Given the description of an element on the screen output the (x, y) to click on. 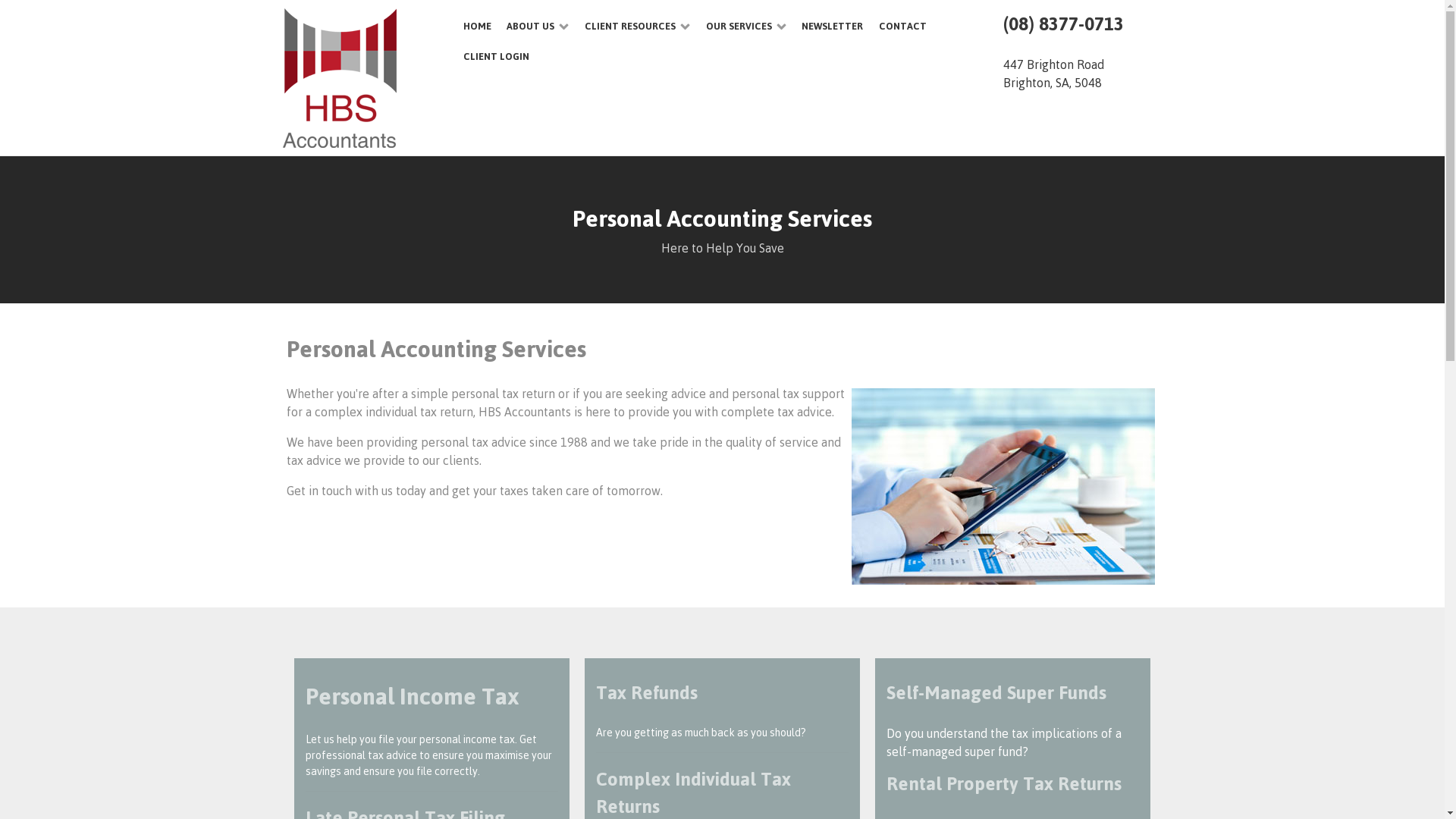
CONTACT Element type: text (901, 25)
Self-Managed Super Funds Element type: text (996, 691)
CLIENT LOGIN Element type: text (495, 56)
(08) 8377-0713 Element type: text (1062, 23)
HBS Accountants in Brighton Element type: hover (357, 77)
OUR SERVICES Element type: text (745, 25)
Rental Property Tax Returns Element type: text (1003, 782)
HOME Element type: text (476, 25)
NEWSLETTER Element type: text (832, 25)
Tax Refunds Element type: text (646, 691)
Complex Individual Tax Returns Element type: text (693, 792)
Personal Income Tax Element type: text (411, 694)
